Given the description of an element on the screen output the (x, y) to click on. 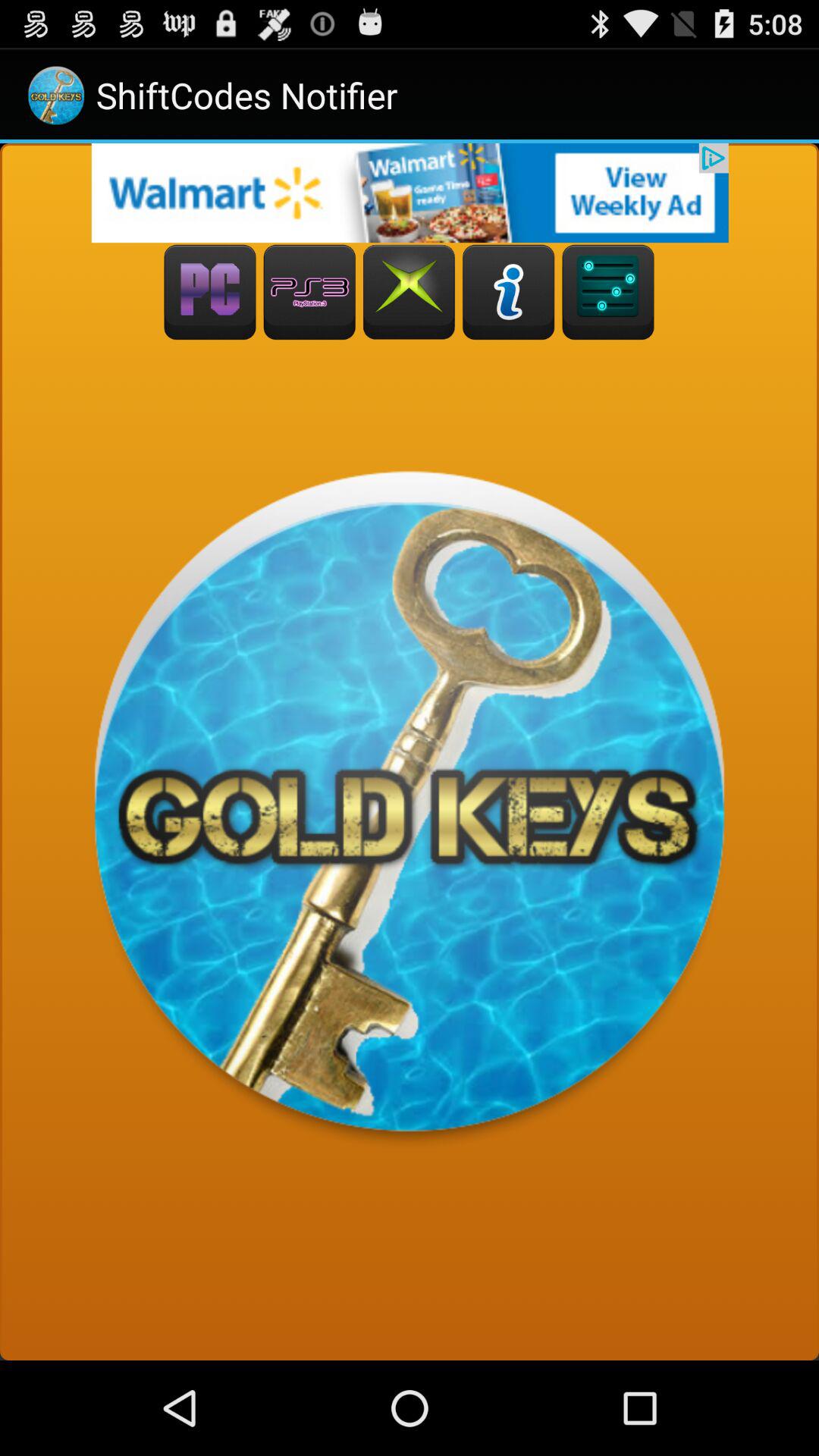
playstation 3 (309, 292)
